Given the description of an element on the screen output the (x, y) to click on. 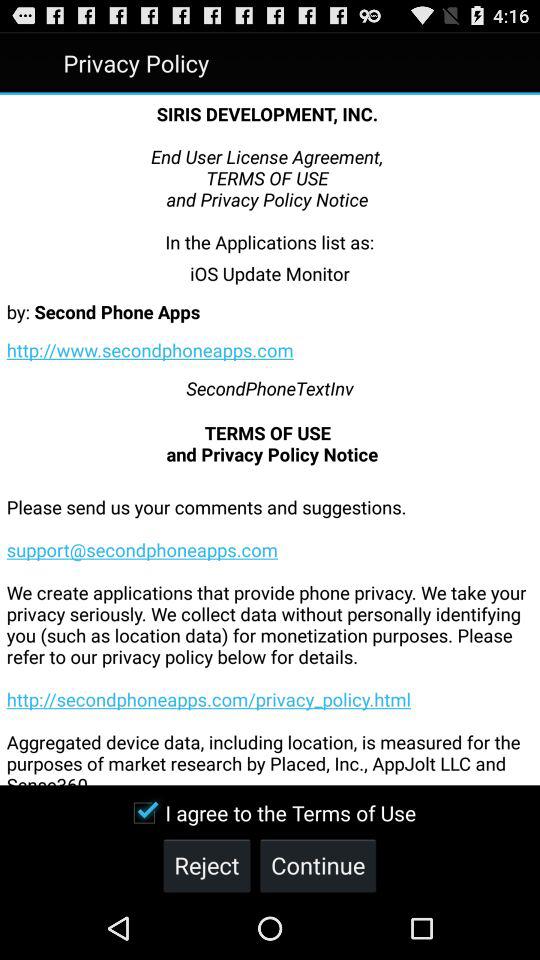
launch the please send us icon (270, 625)
